Given the description of an element on the screen output the (x, y) to click on. 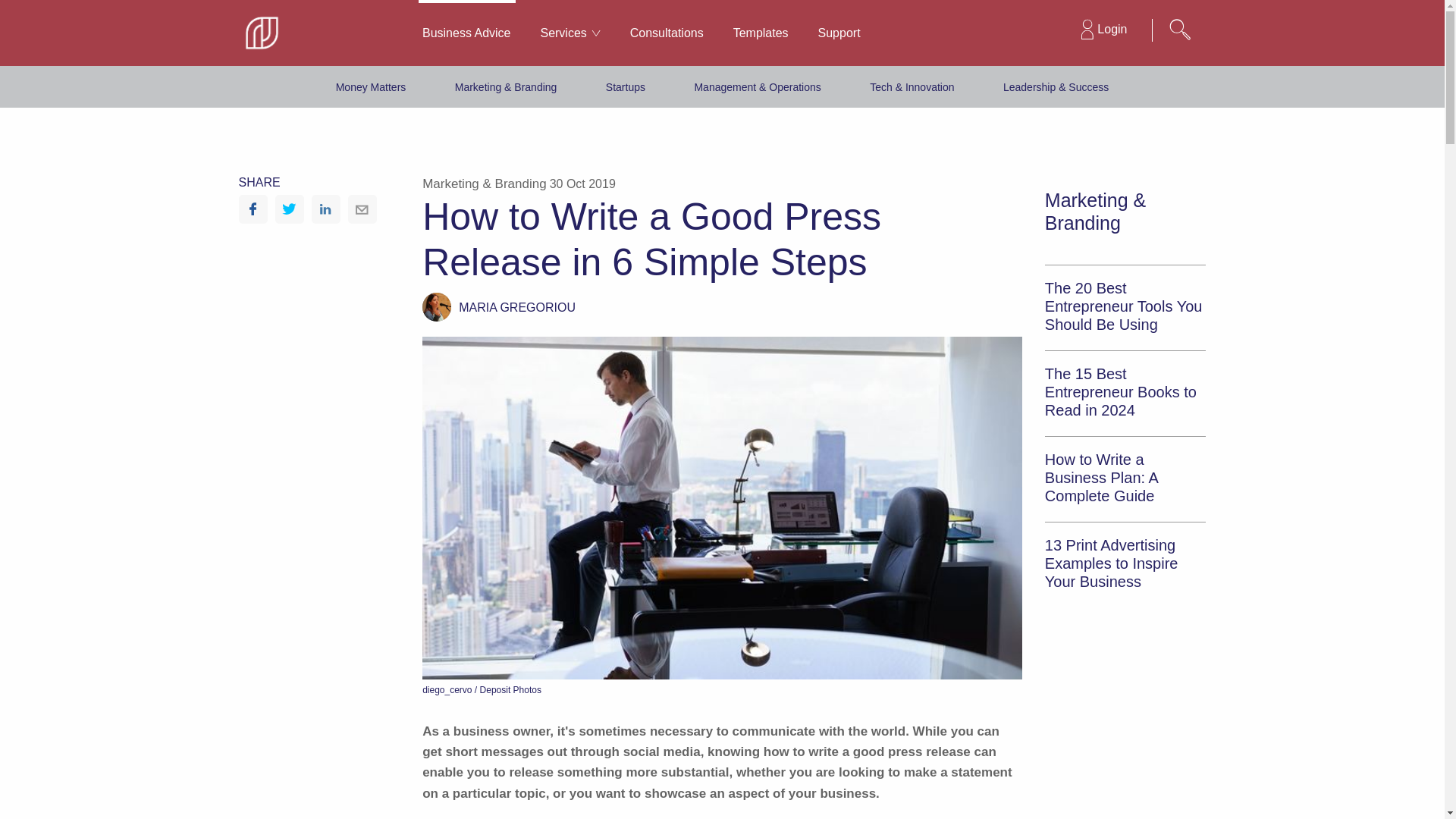
Business Advice (466, 33)
Templates (760, 33)
Consultations (666, 33)
Login (1103, 29)
Services (570, 33)
Money Matters (371, 87)
